Given the description of an element on the screen output the (x, y) to click on. 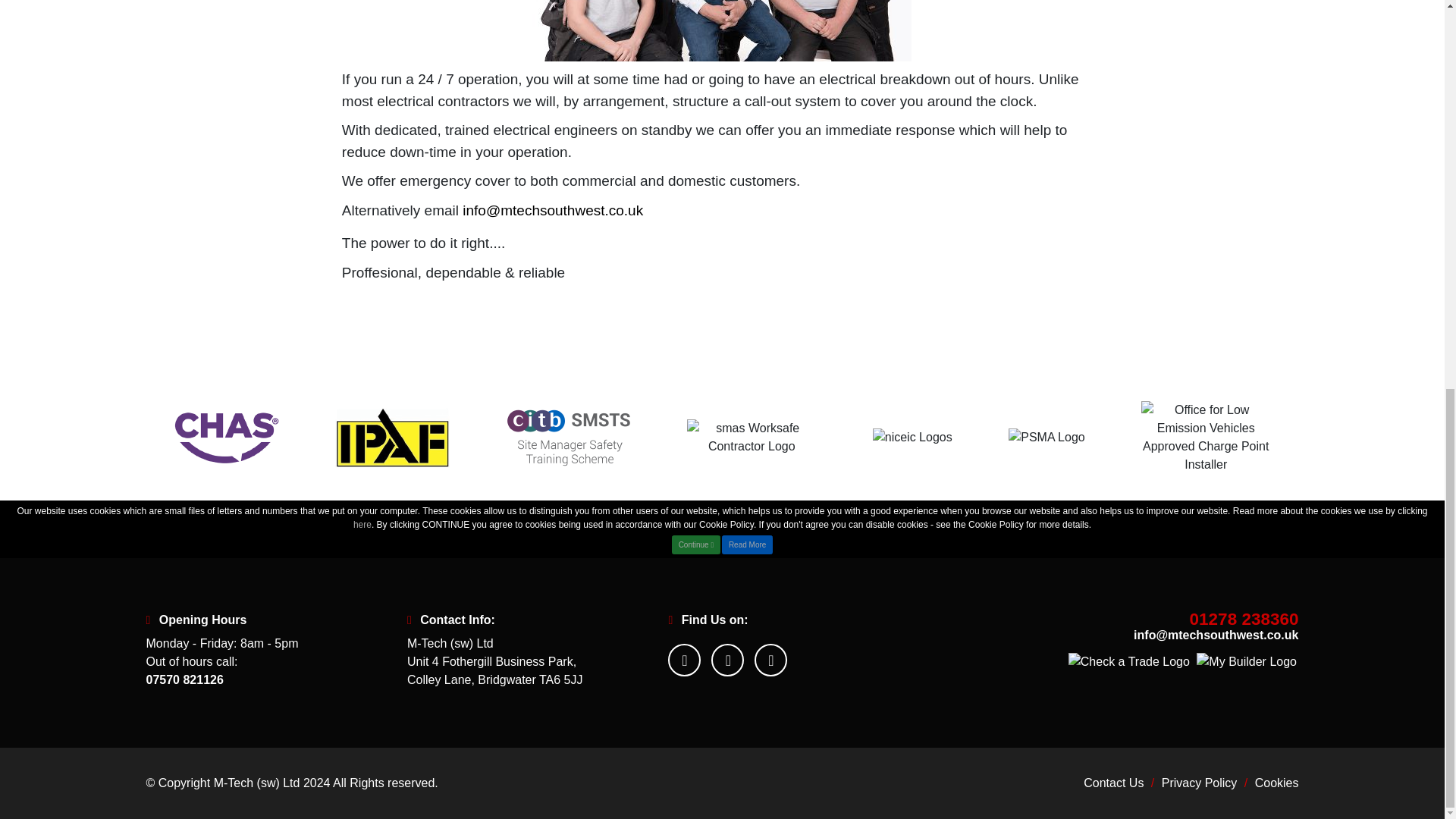
here (362, 45)
07570 821126 (191, 679)
Read More (746, 65)
Continue (695, 65)
